Given the description of an element on the screen output the (x, y) to click on. 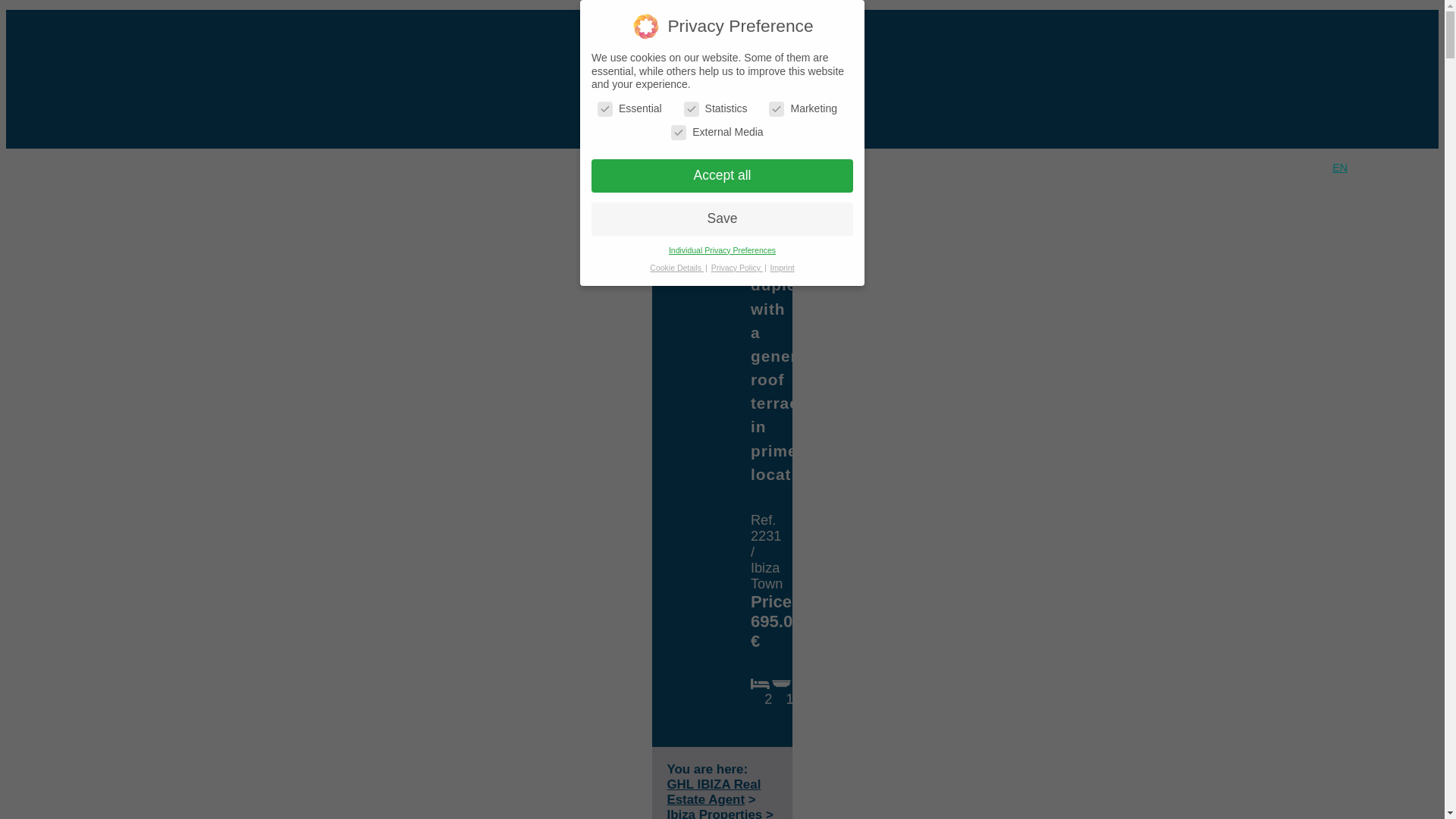
ES (1387, 167)
EN (1340, 167)
PROFILE (828, 211)
DE (1363, 167)
FOR OWNERS (598, 211)
LONG TERM RENTALS (465, 211)
GHL IBIZA Real Estate Agent (713, 791)
MARKET (936, 211)
ENQUIRY (1047, 211)
IBIZA PROPERTIES (87, 211)
FR (1412, 167)
IBIZA RENTALS (332, 211)
Ibiza Properties (713, 813)
CO-OWNERSHIP (217, 211)
TEAM (1268, 211)
